Given the description of an element on the screen output the (x, y) to click on. 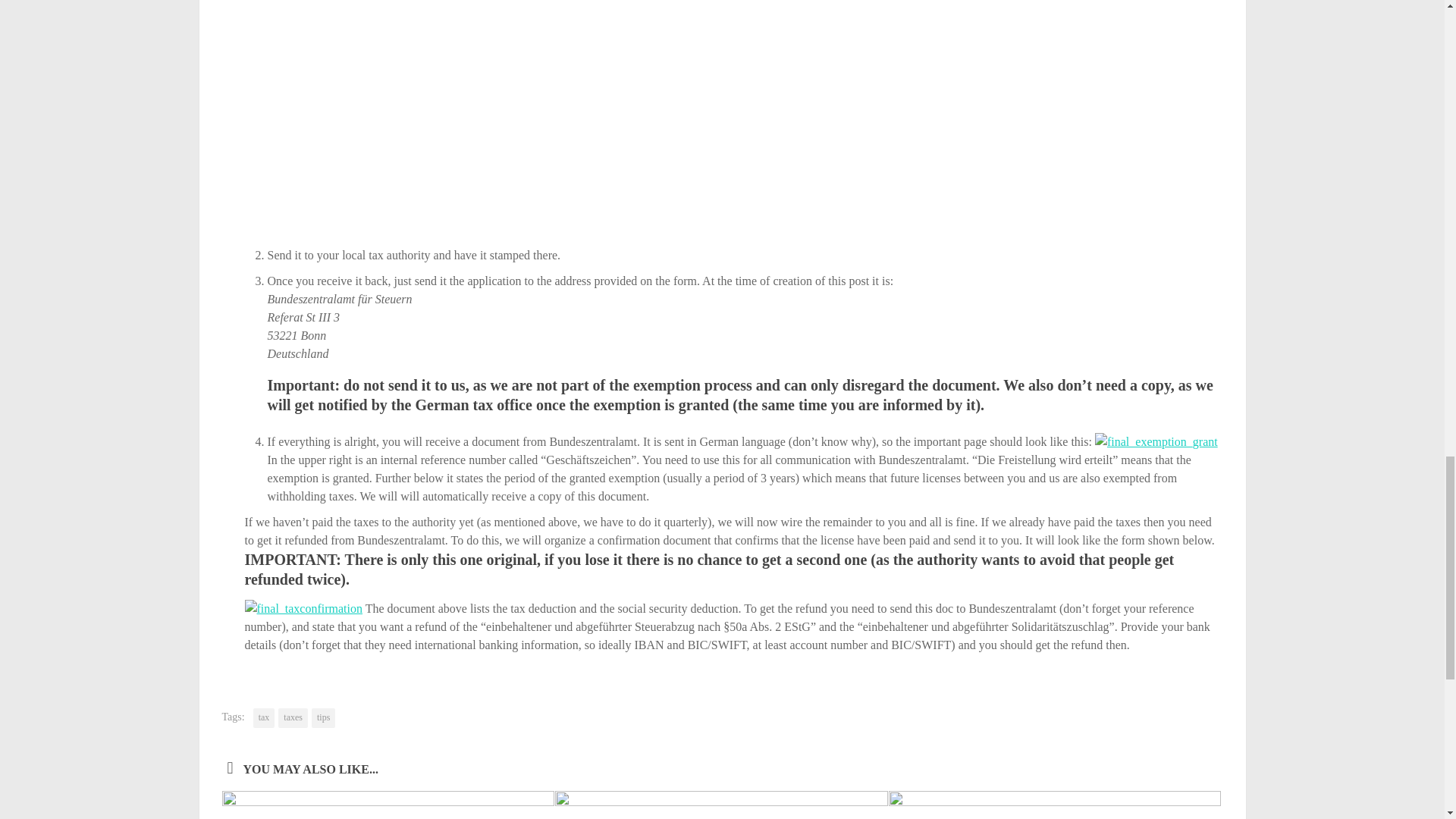
taxes (292, 718)
tax (264, 718)
tips (322, 718)
